Given the description of an element on the screen output the (x, y) to click on. 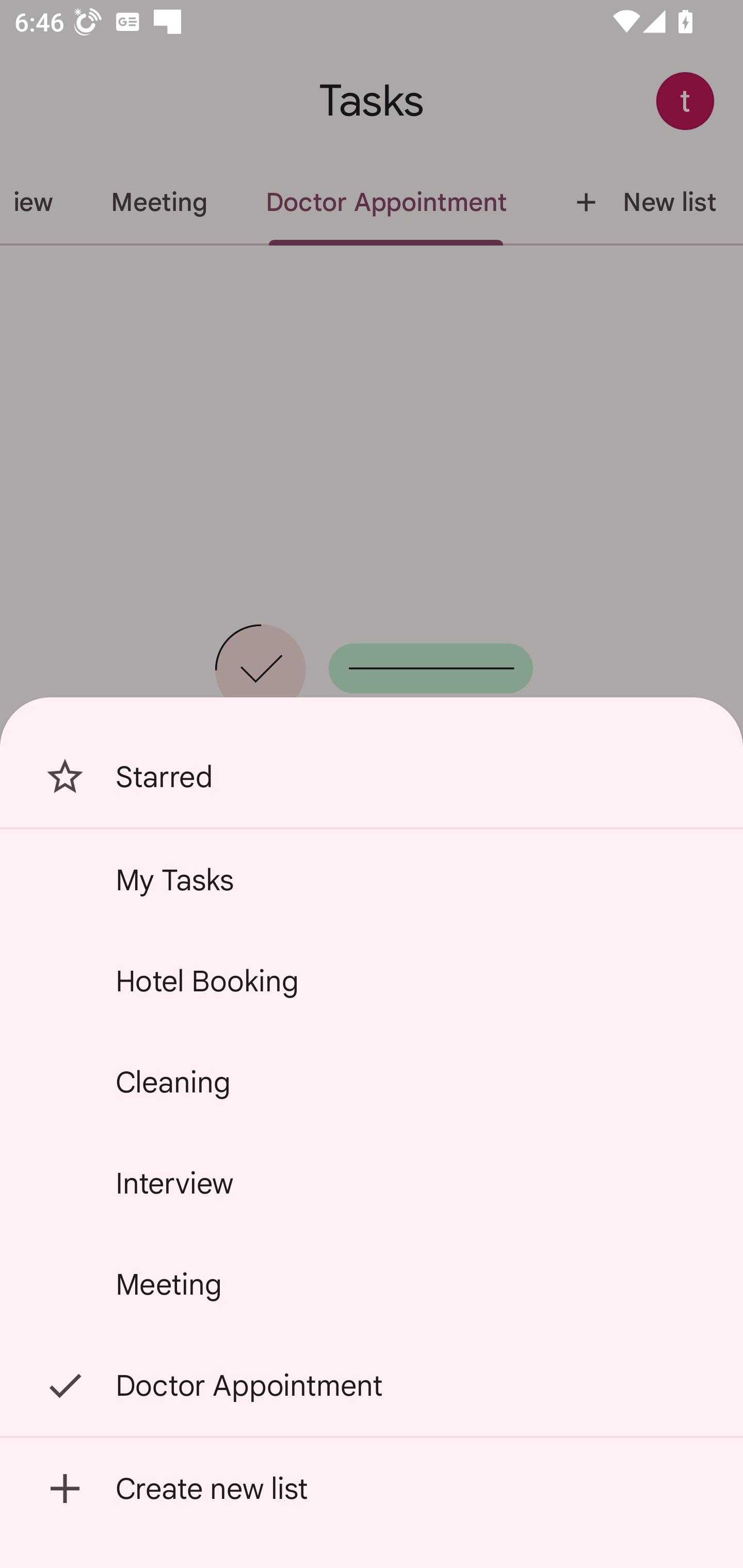
Starred (371, 776)
My Tasks (371, 879)
Hotel Booking (371, 980)
Cleaning (371, 1081)
Interview (371, 1183)
Meeting (371, 1284)
Doctor Appointment (371, 1385)
Create new list (371, 1488)
